Given the description of an element on the screen output the (x, y) to click on. 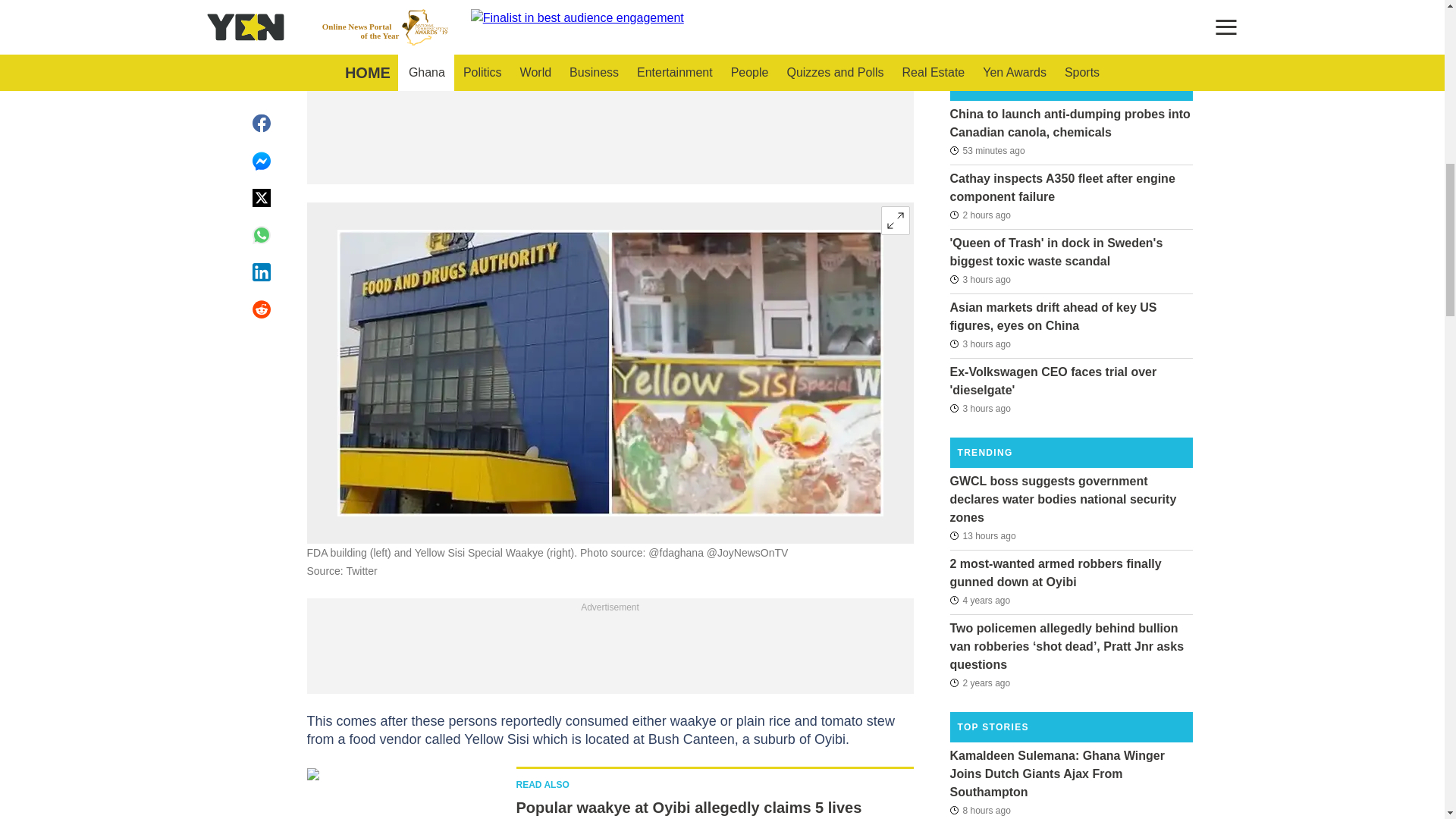
2024-09-03T05:21:03Z (987, 149)
2024-09-03T03:57:03Z (979, 215)
Expand image (895, 220)
2020-01-20T20:21:31Z (979, 600)
2022-03-09T12:39:52Z (979, 682)
2024-09-02T17:06:47Z (981, 535)
2024-09-03T02:51:03Z (979, 343)
2024-09-03T03:12:03Z (979, 279)
2024-09-03T02:32:04Z (979, 407)
2024-09-02T21:54:52Z (979, 809)
